Given the description of an element on the screen output the (x, y) to click on. 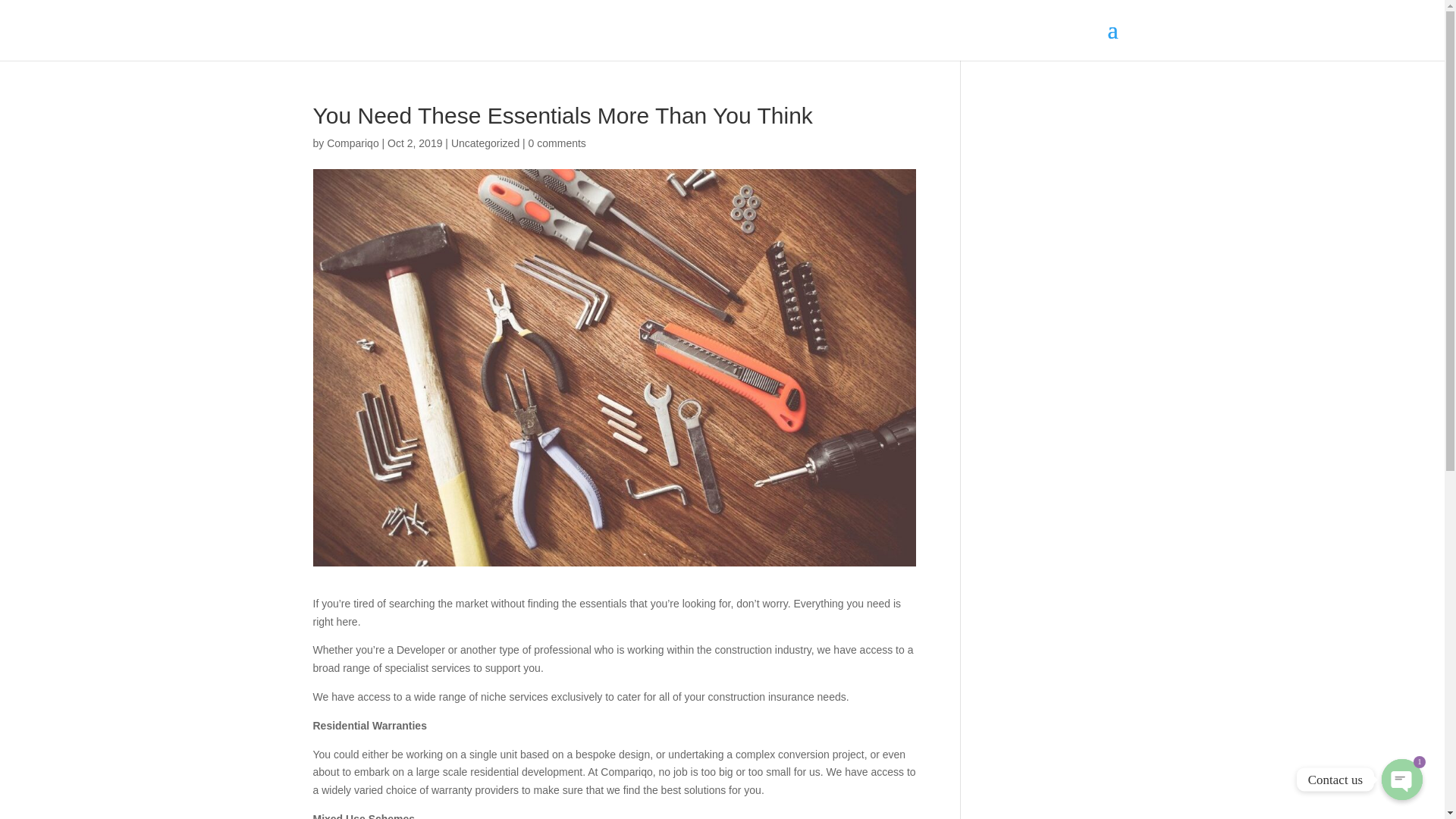
Posts by Compariqo (352, 143)
